Given the description of an element on the screen output the (x, y) to click on. 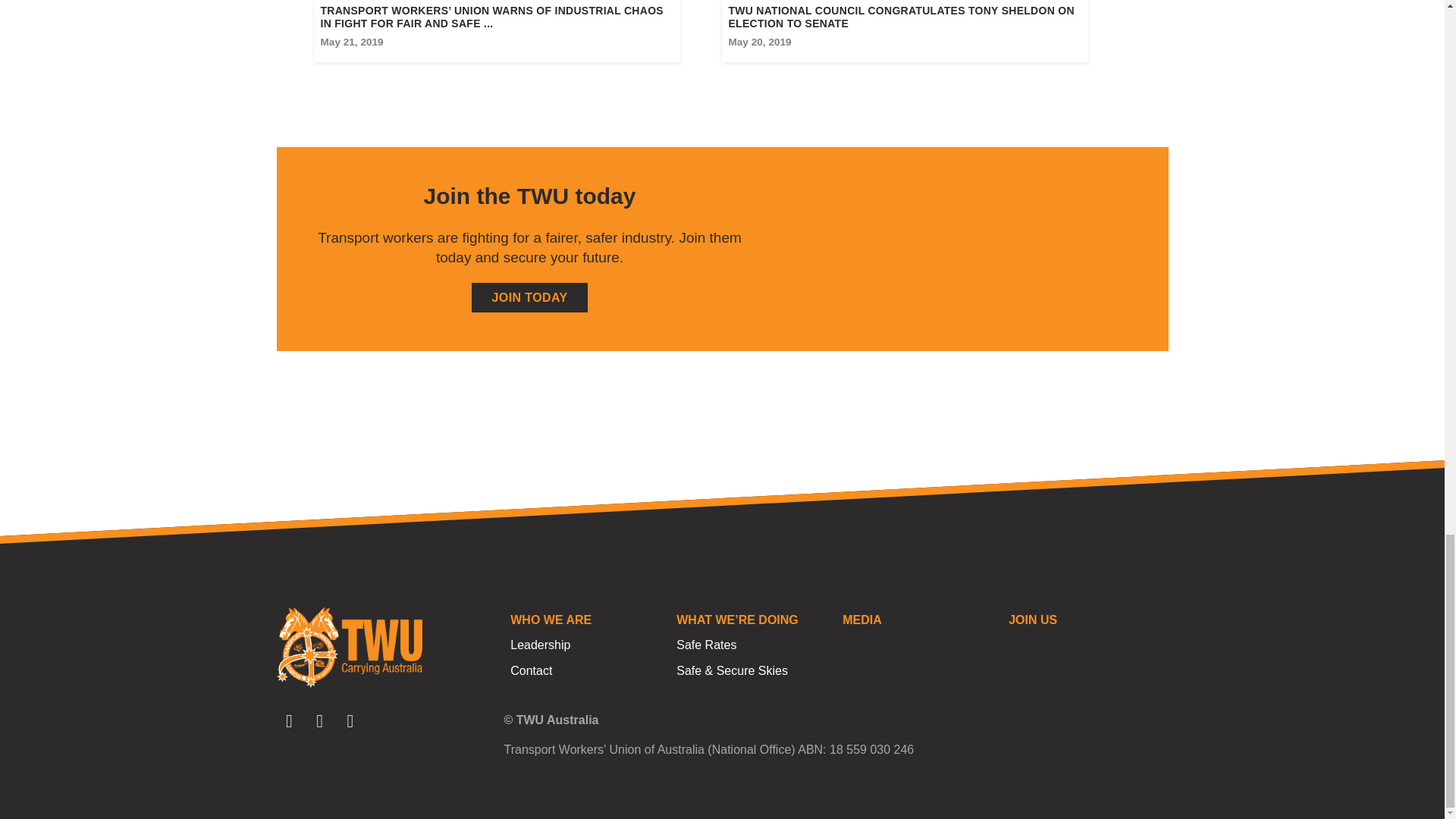
Contact (586, 670)
JOIN TODAY (528, 297)
JOIN US (1084, 620)
WHO WE ARE (586, 620)
Leadership (586, 645)
Safe Rates (752, 645)
MEDIA (918, 620)
